Given the description of an element on the screen output the (x, y) to click on. 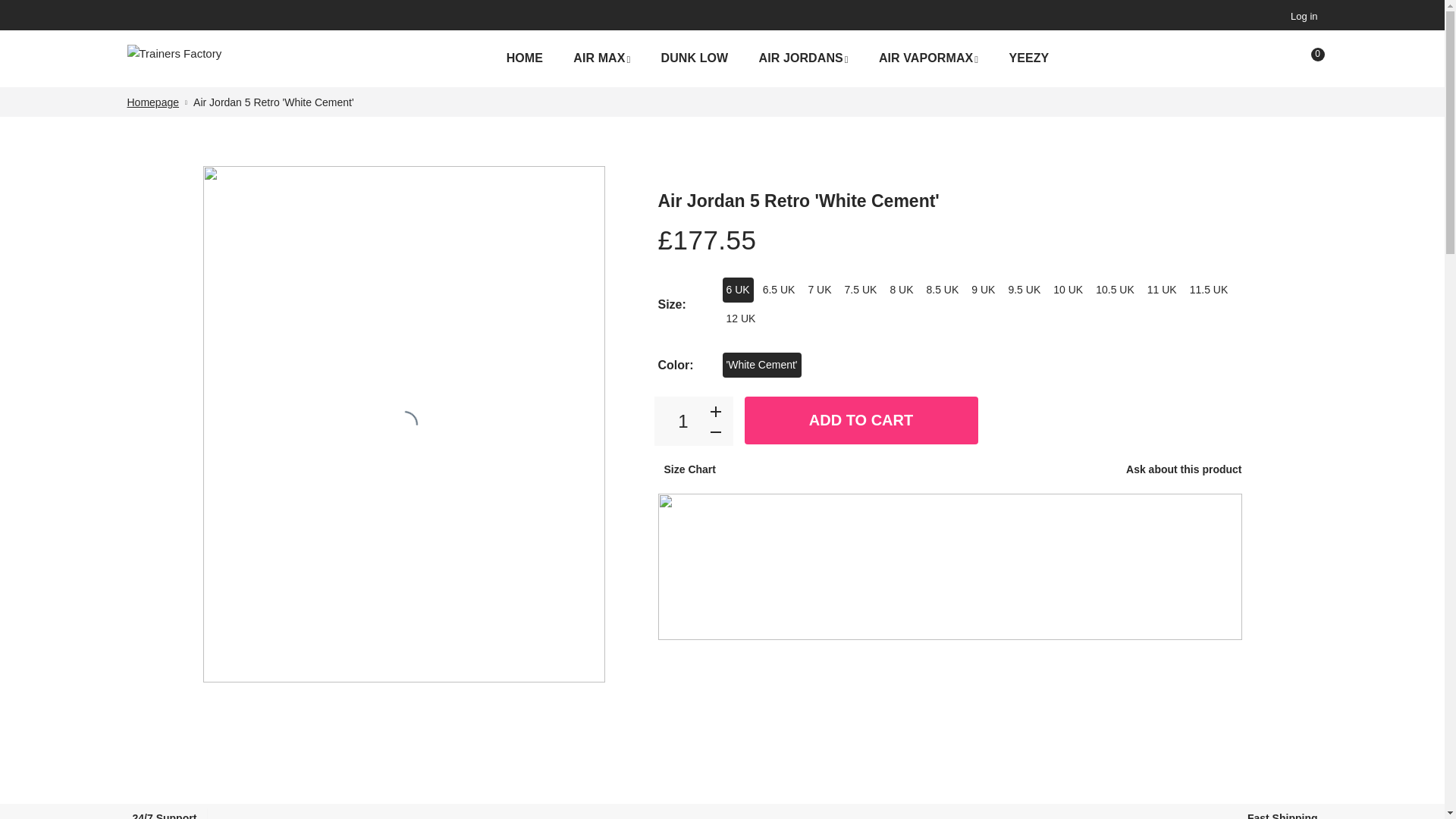
AIR VAPORMAX (927, 58)
AIR MAX (601, 58)
Log in (1301, 16)
HOME (524, 58)
AIR JORDANS (802, 58)
Homepage (153, 102)
DUNK LOW (695, 58)
Log in (1301, 16)
